Given the description of an element on the screen output the (x, y) to click on. 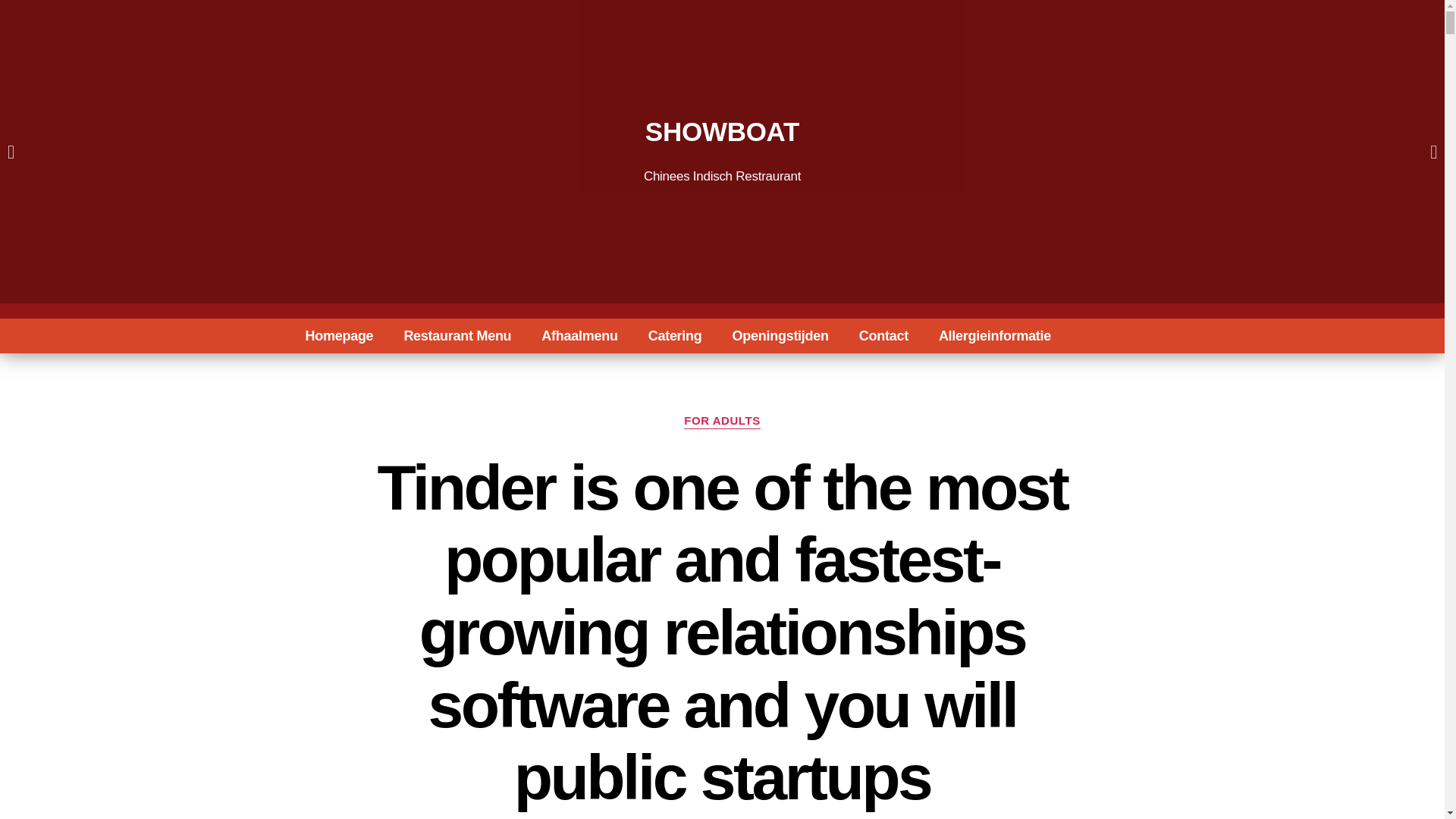
Afhaalmenu (578, 335)
Homepage (338, 335)
Restaurant Menu (456, 335)
Allergieinformatie (994, 335)
FOR ADULTS (722, 421)
Catering (675, 335)
Contact (883, 335)
Openingstijden (780, 335)
